Given the description of an element on the screen output the (x, y) to click on. 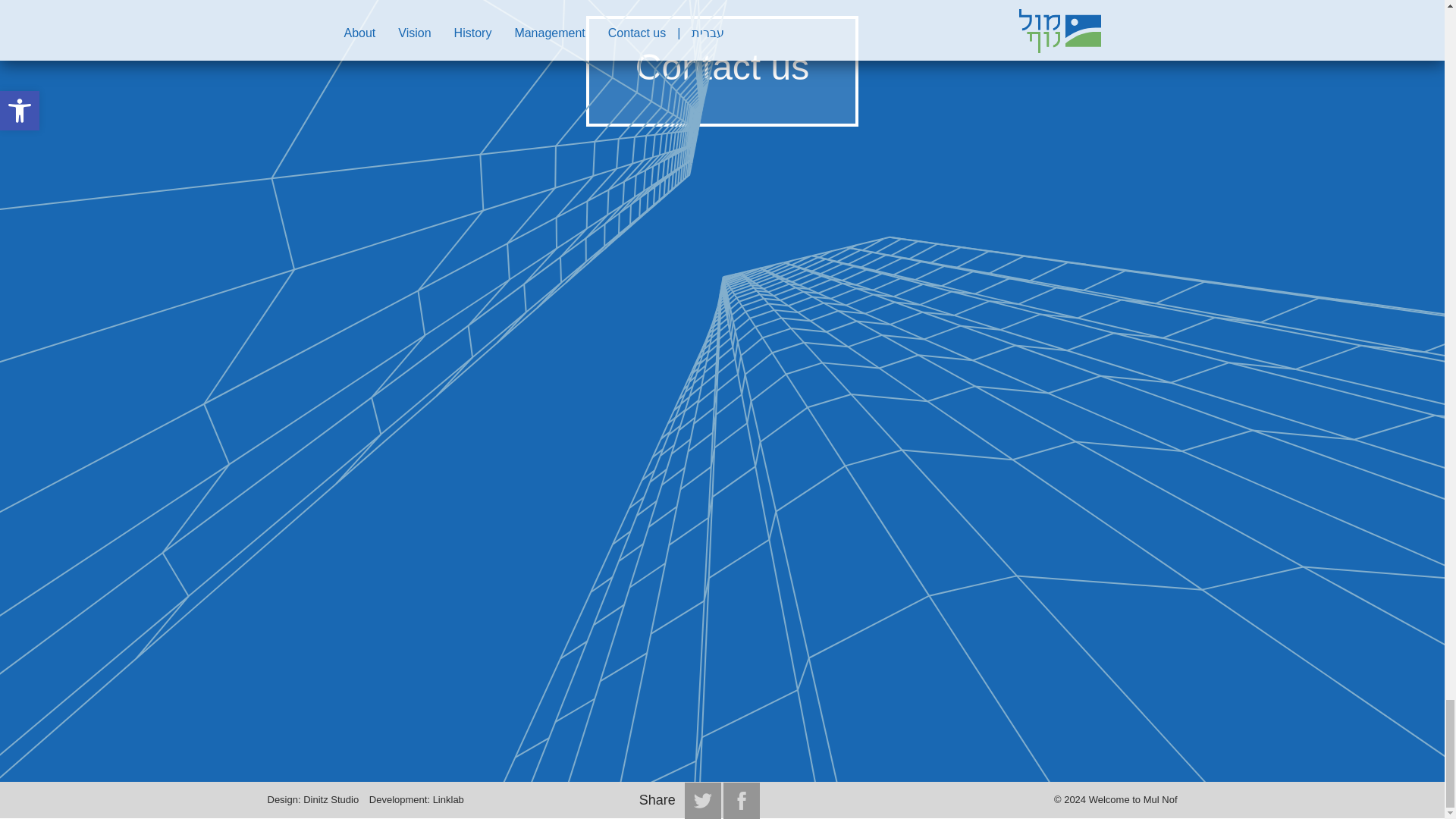
Dinitz Studio (330, 799)
Linklab (448, 799)
